Given the description of an element on the screen output the (x, y) to click on. 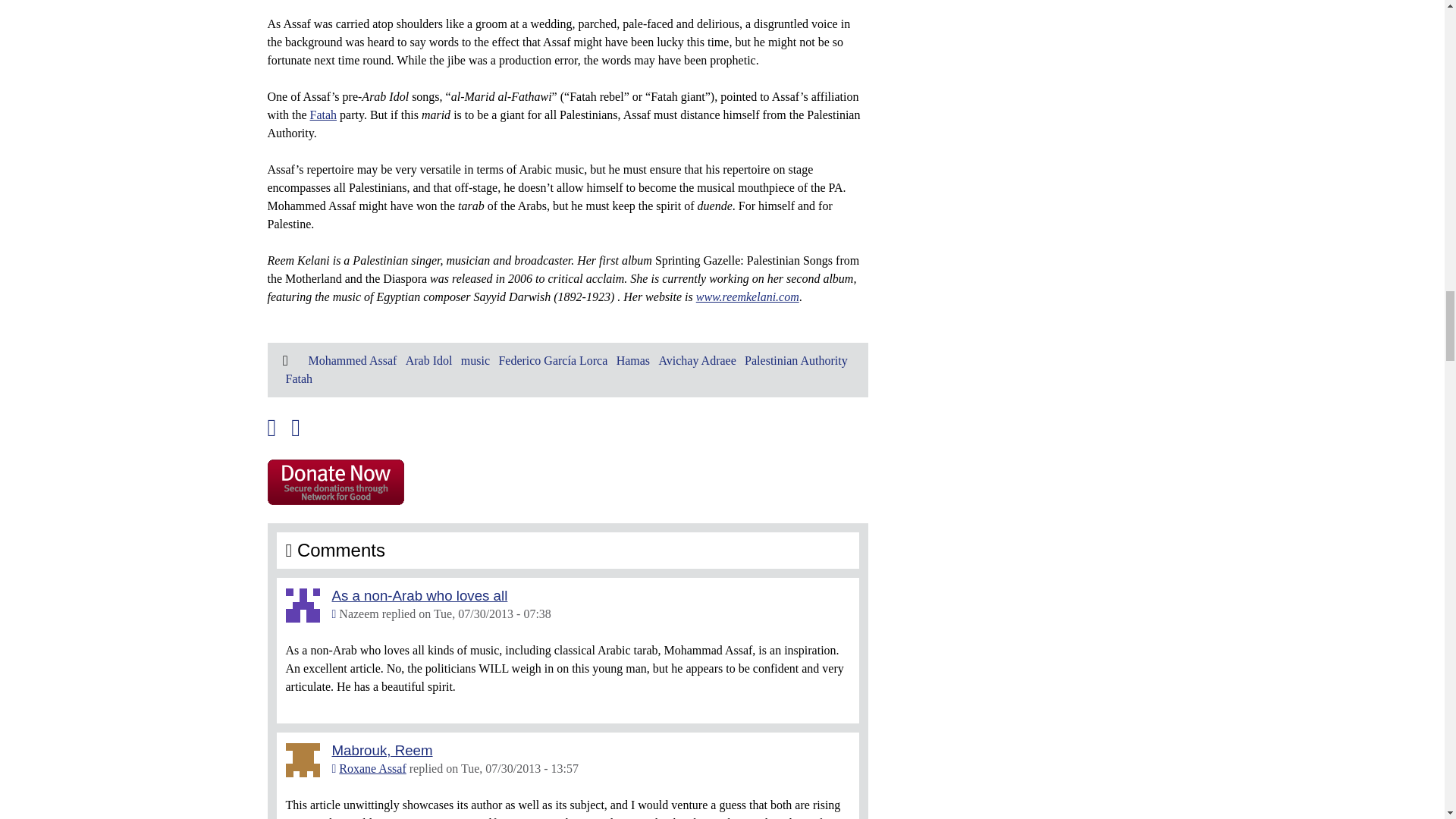
music (475, 359)
Fatah (322, 114)
Arab Idol (429, 359)
Mohammed Assaf (351, 359)
Hamas (632, 359)
www.reemkelani.com (747, 296)
Avichay Adraee (696, 359)
